Given the description of an element on the screen output the (x, y) to click on. 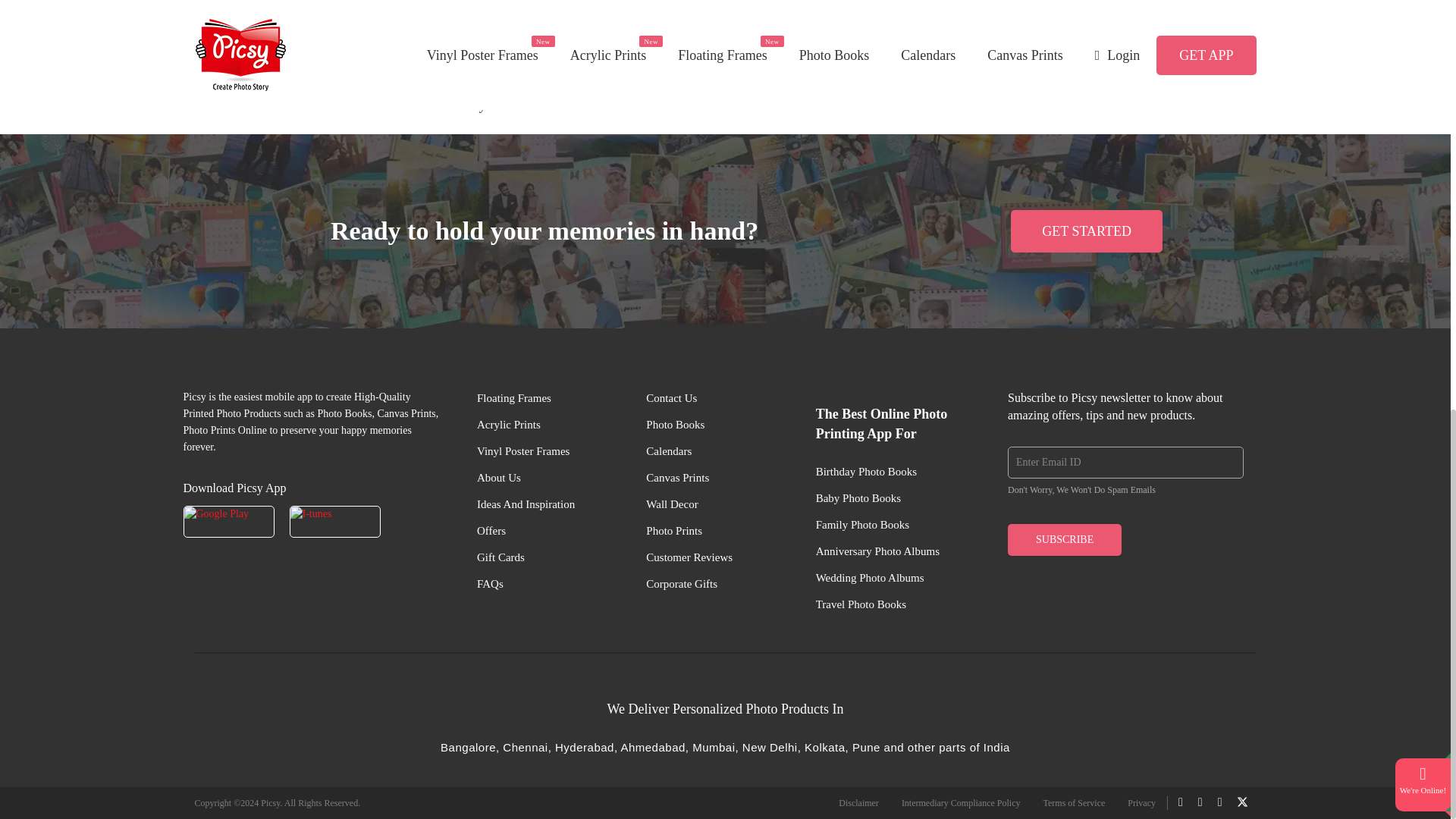
GET STARTED (1085, 230)
Contact Us (671, 398)
Gift Cards (500, 557)
Offers (491, 530)
Privacy (1141, 802)
friends photo books (601, 80)
I-tunes (334, 521)
Ideas And Inspiration (526, 504)
Photo Books (675, 424)
Floating Frames (514, 398)
friends photo books (601, 80)
Google Play (229, 521)
Terms of Service (1074, 802)
Picsy app (820, 57)
FAQs (490, 583)
